Given the description of an element on the screen output the (x, y) to click on. 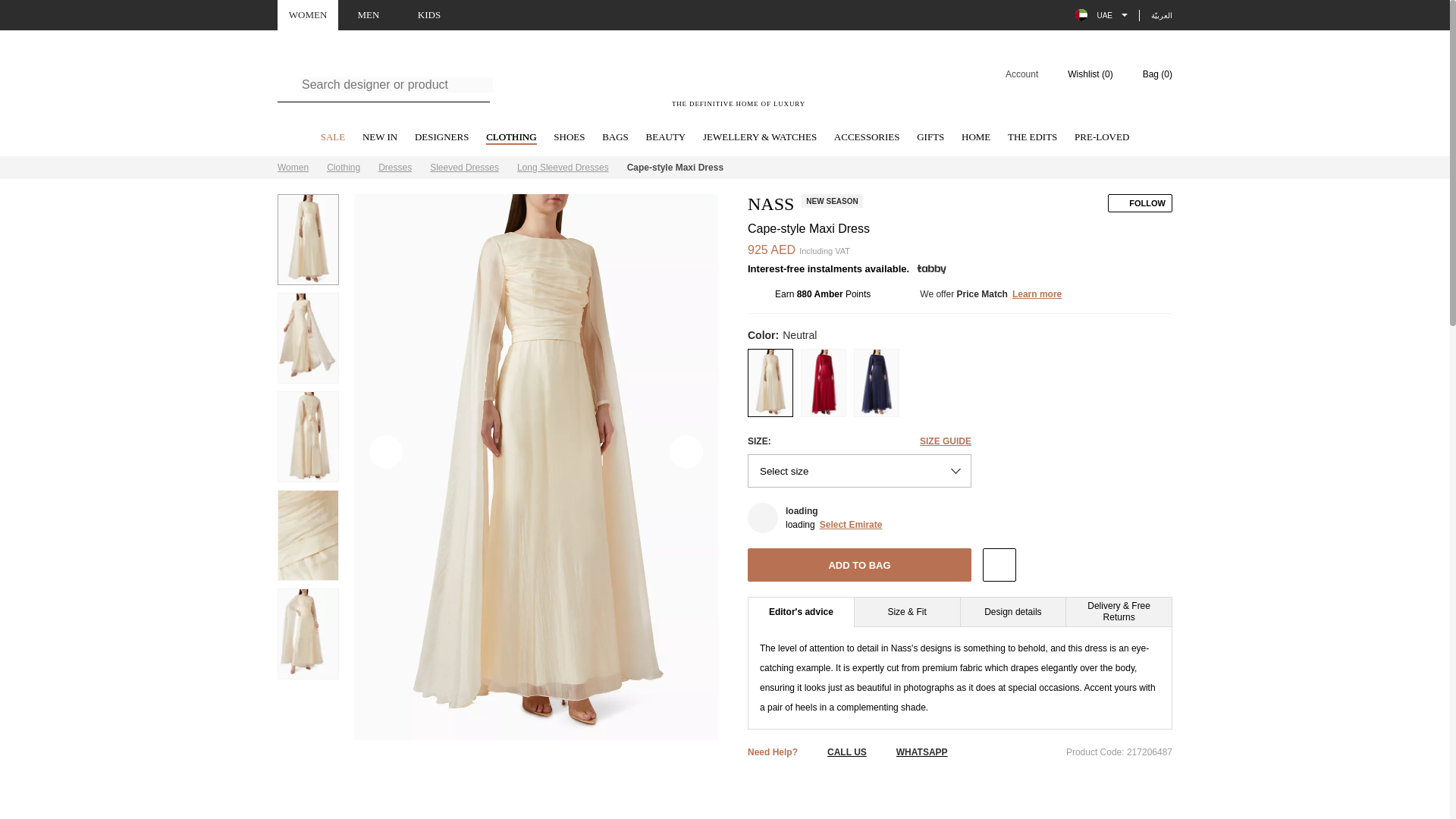
THE EDITS (1032, 137)
BEAUTY (665, 137)
GIFTS (930, 137)
CLOTHING (510, 137)
SALE (333, 137)
Clothing (342, 167)
UAE (1101, 15)
ACCESSORIES (866, 137)
THE DEFINITIVE HOME OF LUXURY (738, 83)
NEW IN (379, 137)
SHOES (569, 137)
Women (293, 167)
HOME (975, 137)
DESIGNERS (441, 137)
